Given the description of an element on the screen output the (x, y) to click on. 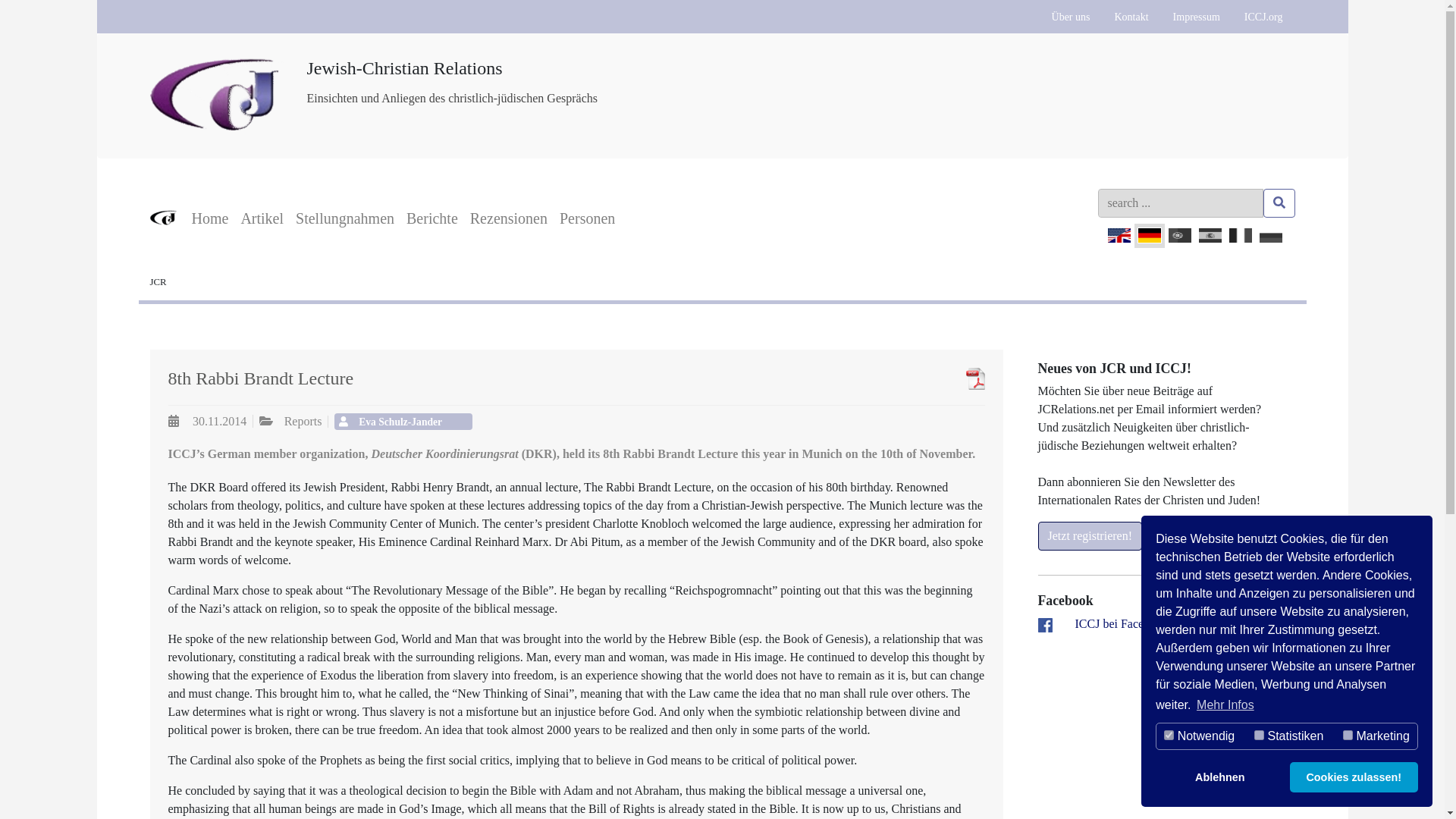
English (1118, 235)
ICCJ.org (1263, 17)
Deutsch (1149, 235)
Mehr Infos (1224, 704)
Jewish-Christian Relations  (216, 71)
Artikel (261, 217)
ICCJ bei FaceBook (1122, 623)
Personen (587, 217)
Rezensionen (508, 217)
JCR (158, 281)
Home (209, 217)
Open external link in new window (1122, 623)
Ablehnen (1220, 777)
8th Rabbi Brandt Lecture (946, 378)
Cookies zulassen! (1354, 777)
